Given the description of an element on the screen output the (x, y) to click on. 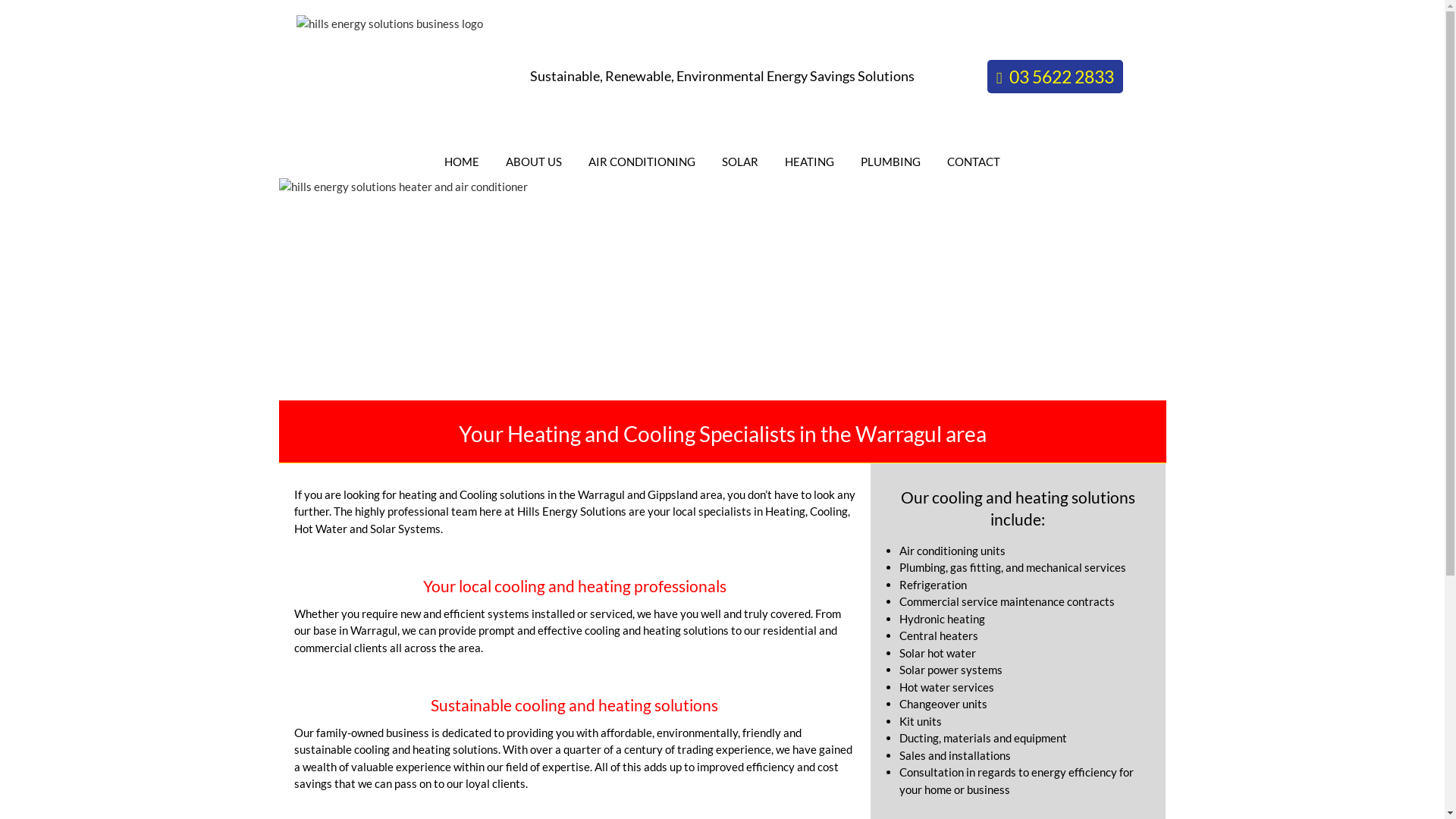
ABOUT US Element type: text (533, 161)
CONTACT Element type: text (973, 161)
HOME Element type: text (461, 161)
SOLAR Element type: text (739, 161)
hills energy solutions heater and air conditioner Element type: hover (722, 289)
HEATING Element type: text (809, 161)
PLUMBING Element type: text (890, 161)
hills energy solutions business logo Element type: hover (389, 78)
AIR CONDITIONING Element type: text (641, 161)
